Given the description of an element on the screen output the (x, y) to click on. 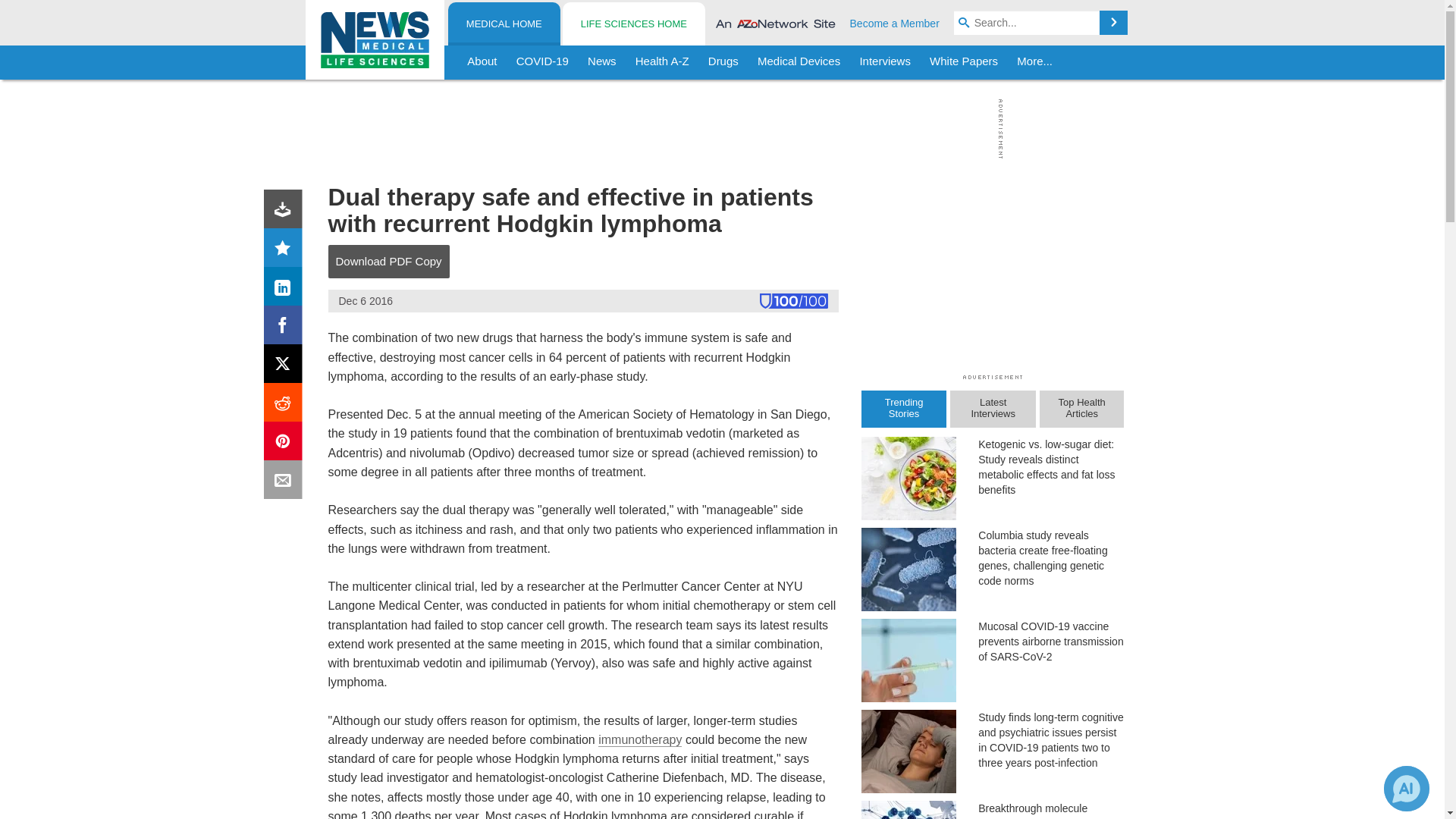
Email (285, 483)
LIFE SCIENCES HOME (633, 23)
LinkedIn (285, 289)
Health A-Z (662, 62)
Drugs (722, 62)
More... (1035, 62)
Become a Member (894, 22)
Medical Devices (798, 62)
Facebook (285, 328)
Pinterest (285, 443)
